Given the description of an element on the screen output the (x, y) to click on. 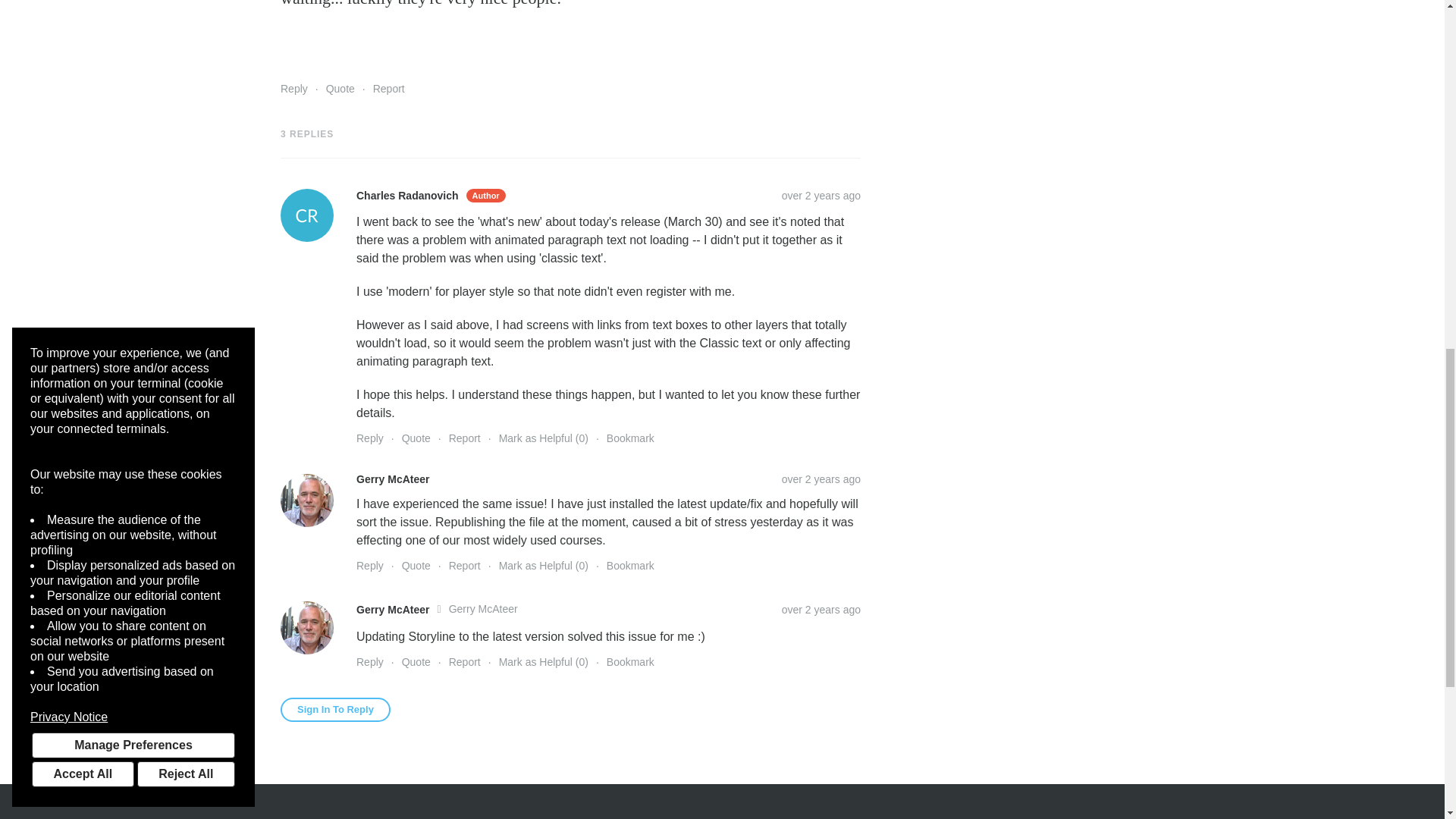
Charles Radanovich (307, 215)
Copy URL to Clipboard (820, 479)
Gerry McAteer (307, 500)
Copy URL to Clipboard (820, 195)
Gerry McAteer (307, 627)
Copy URL to Clipboard (820, 609)
